Given the description of an element on the screen output the (x, y) to click on. 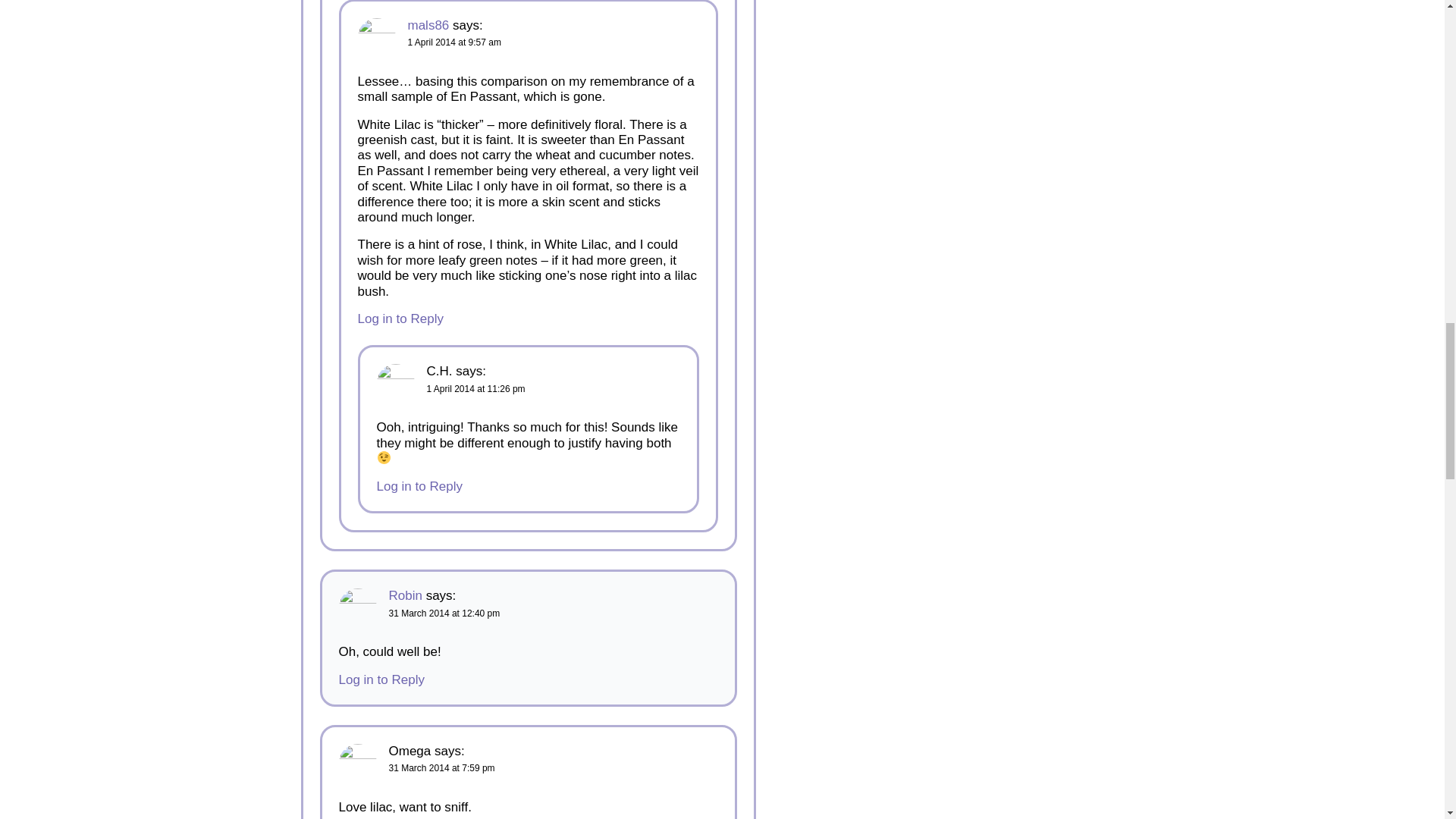
Log in to Reply (401, 318)
mals86 (428, 25)
Robin (405, 595)
Log in to Reply (418, 486)
Log in to Reply (380, 679)
